Given the description of an element on the screen output the (x, y) to click on. 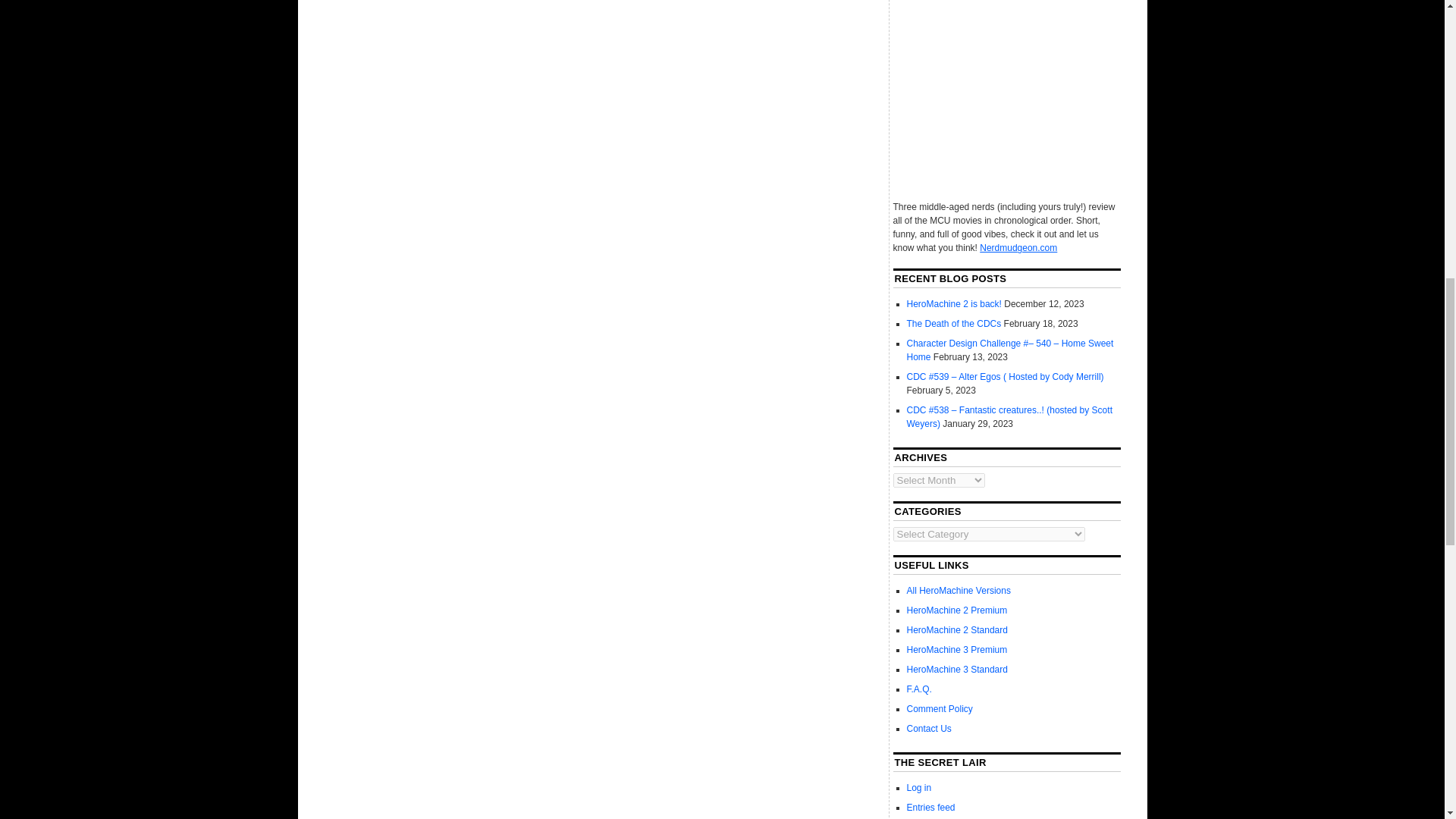
All HeroMachine Versions (958, 590)
HeroMachine 2 is back! (954, 303)
The Death of the CDCs (954, 323)
F.A.Q. (919, 688)
Nerdmudgeon.com (1018, 247)
HeroMachine 2 Standard (957, 629)
HeroMachine 3 Standard (957, 669)
HeroMachine 2 Premium (957, 610)
HeroMachine 3 Premium (957, 649)
